Given the description of an element on the screen output the (x, y) to click on. 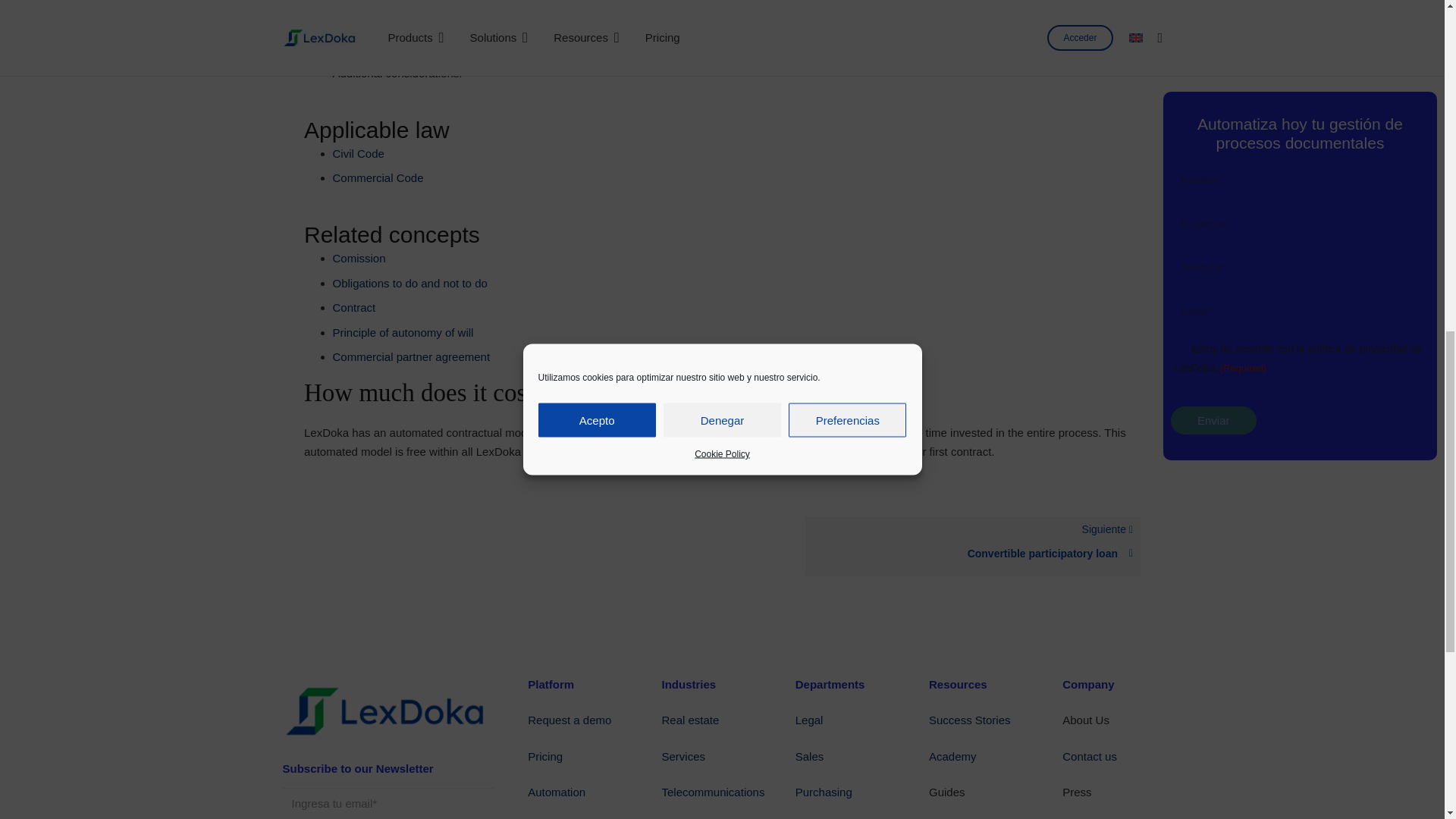
Convertible participatory loan (972, 554)
